Given the description of an element on the screen output the (x, y) to click on. 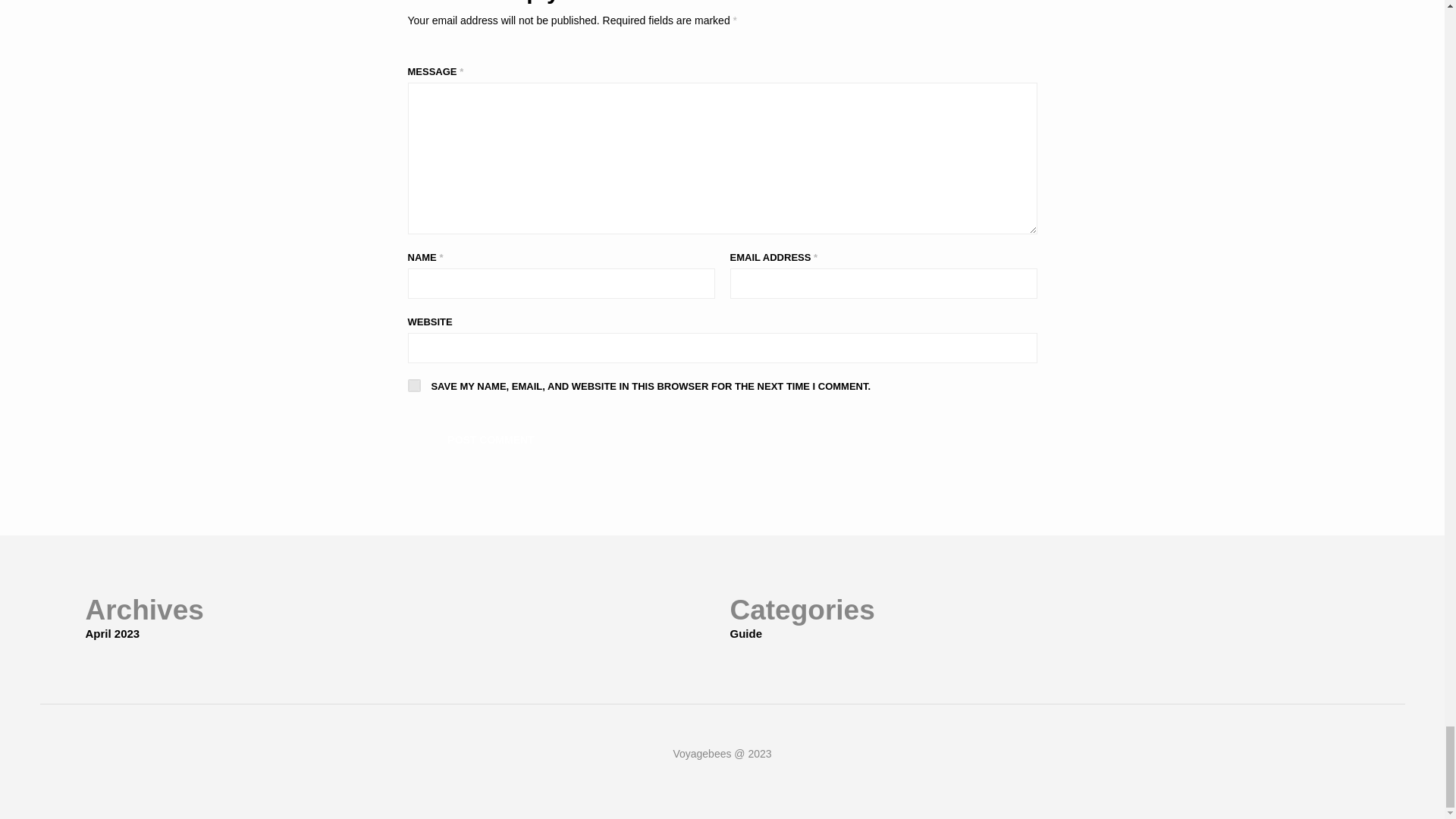
Guide (745, 633)
April 2023 (111, 633)
yes (413, 385)
Post Comment (491, 439)
Post Comment (491, 439)
